Given the description of an element on the screen output the (x, y) to click on. 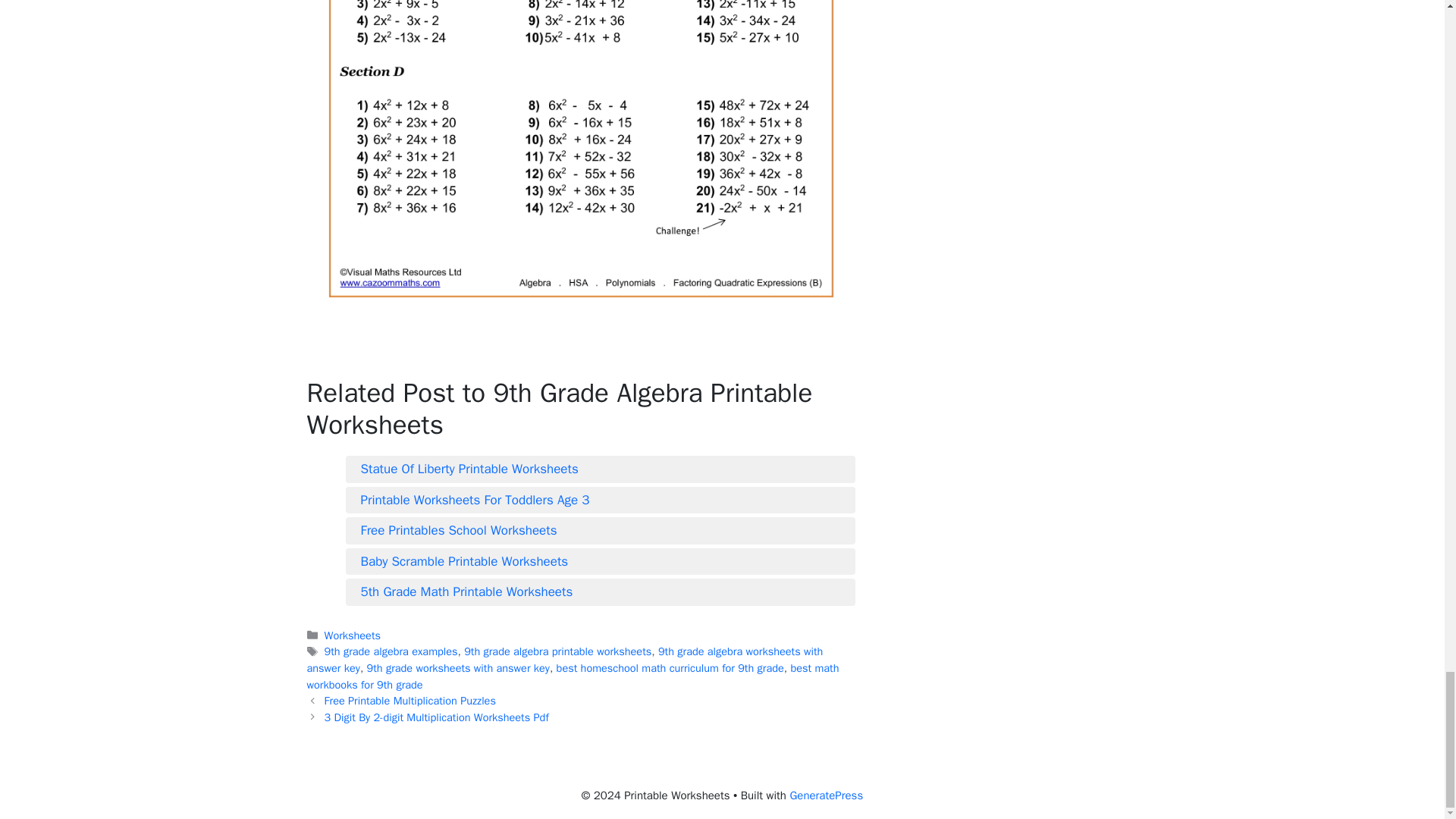
9th grade algebra worksheets with answer key (563, 659)
Statue Of Liberty Printable Worksheets (600, 468)
Printable Worksheets For Toddlers Age 3 (600, 499)
Baby Scramble Printable Worksheets (600, 561)
best math workbooks for 9th grade (571, 675)
9th grade algebra examples (391, 651)
5th Grade Math Printable Worksheets (600, 591)
9th grade worksheets with answer key (458, 667)
9th grade algebra printable worksheets (557, 651)
Free Printable Multiplication Puzzles (410, 700)
GeneratePress (826, 795)
Free Printables School Worksheets (600, 530)
Worksheets (352, 635)
3 Digit By 2-digit Multiplication Worksheets Pdf (436, 716)
best homeschool math curriculum for 9th grade (670, 667)
